Given the description of an element on the screen output the (x, y) to click on. 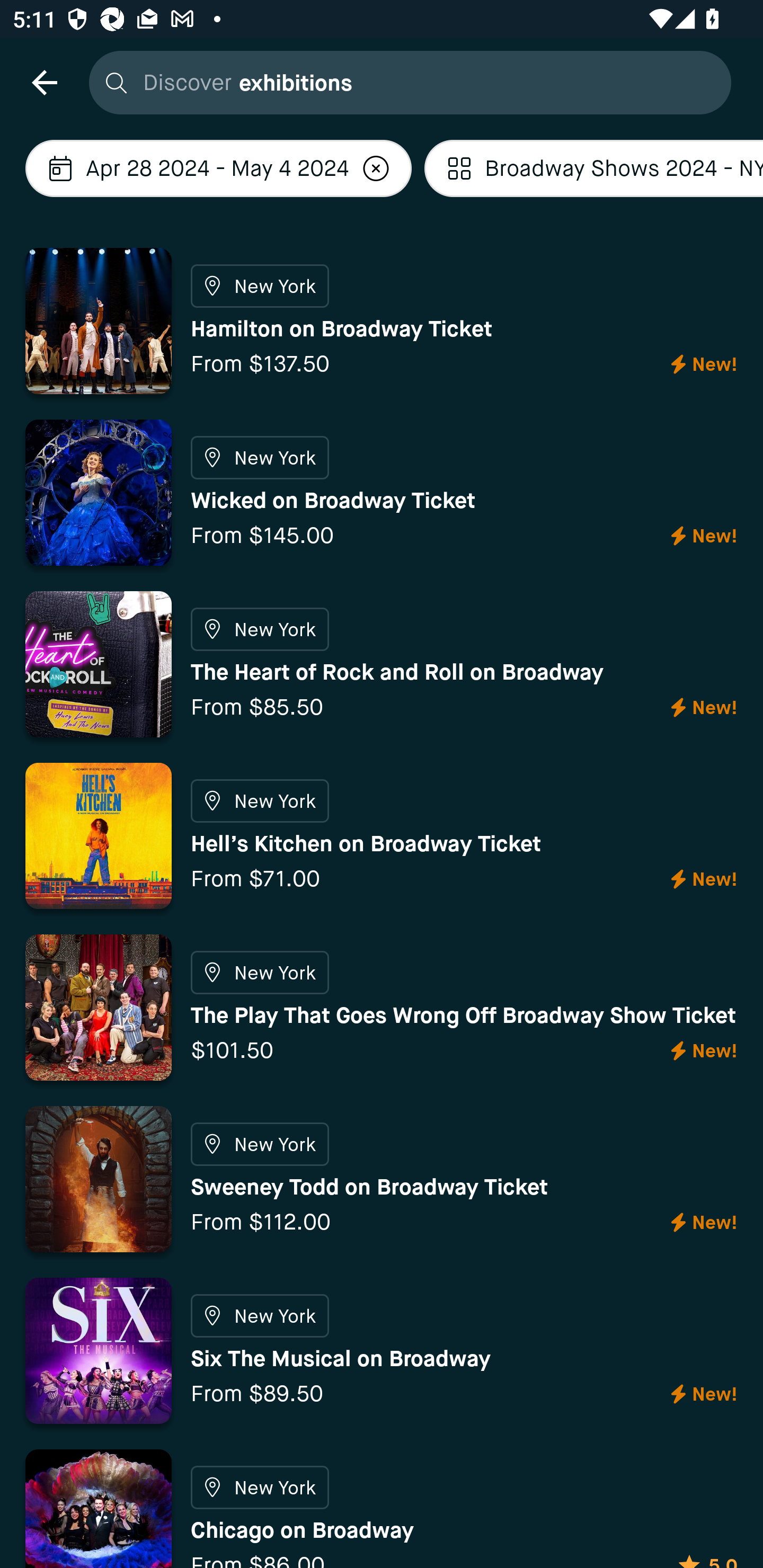
navigation icon (44, 81)
Discover exhibitions (405, 81)
Localized description (376, 168)
Localized description Broadway Shows 2024 - NYC (593, 168)
